Given the description of an element on the screen output the (x, y) to click on. 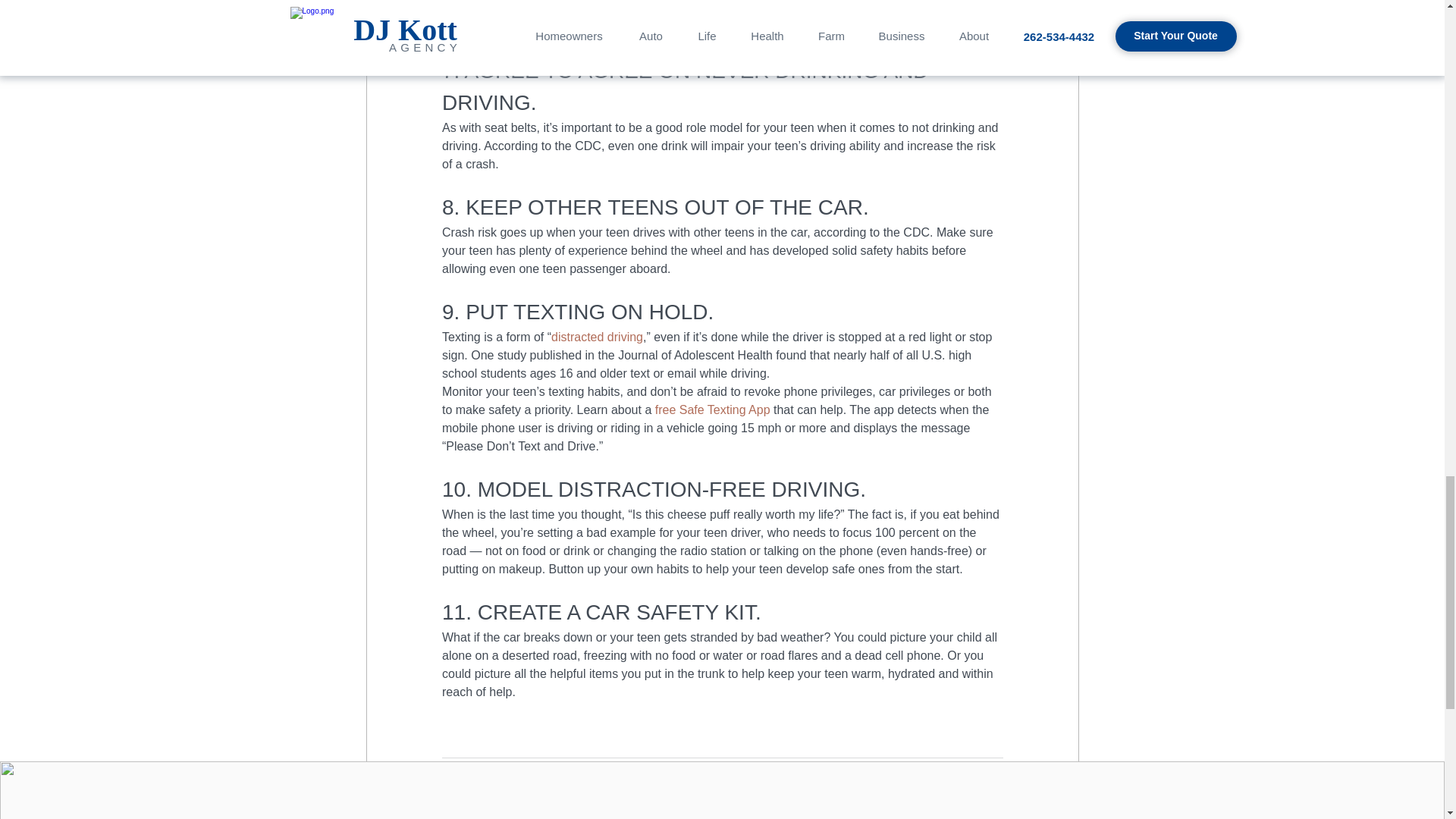
distracted driving (597, 336)
free Safe Texting App  (713, 409)
Auto Insurance (967, 779)
